Given the description of an element on the screen output the (x, y) to click on. 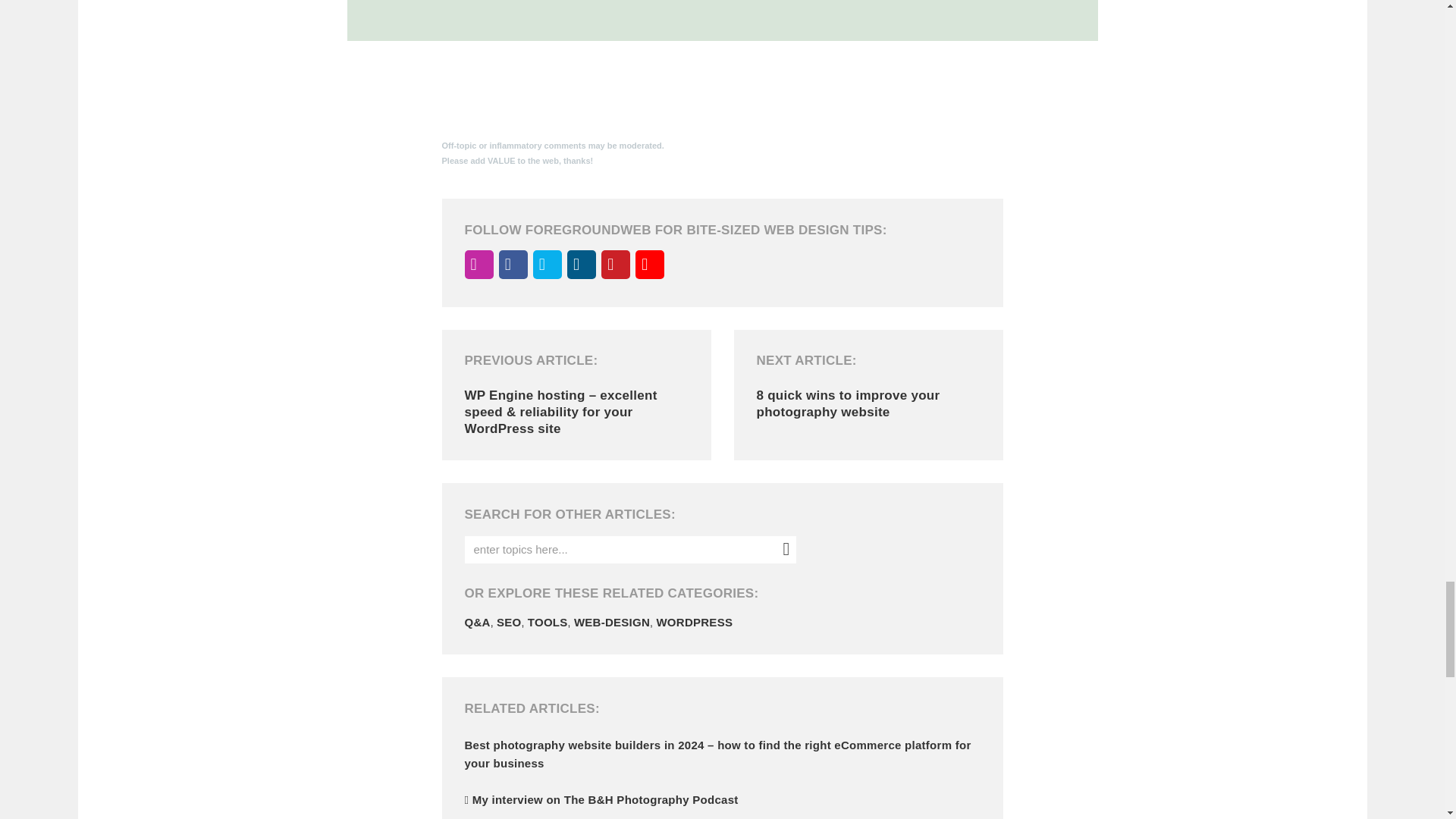
Search (780, 547)
Search blog for: (629, 549)
Search (780, 547)
